Given the description of an element on the screen output the (x, y) to click on. 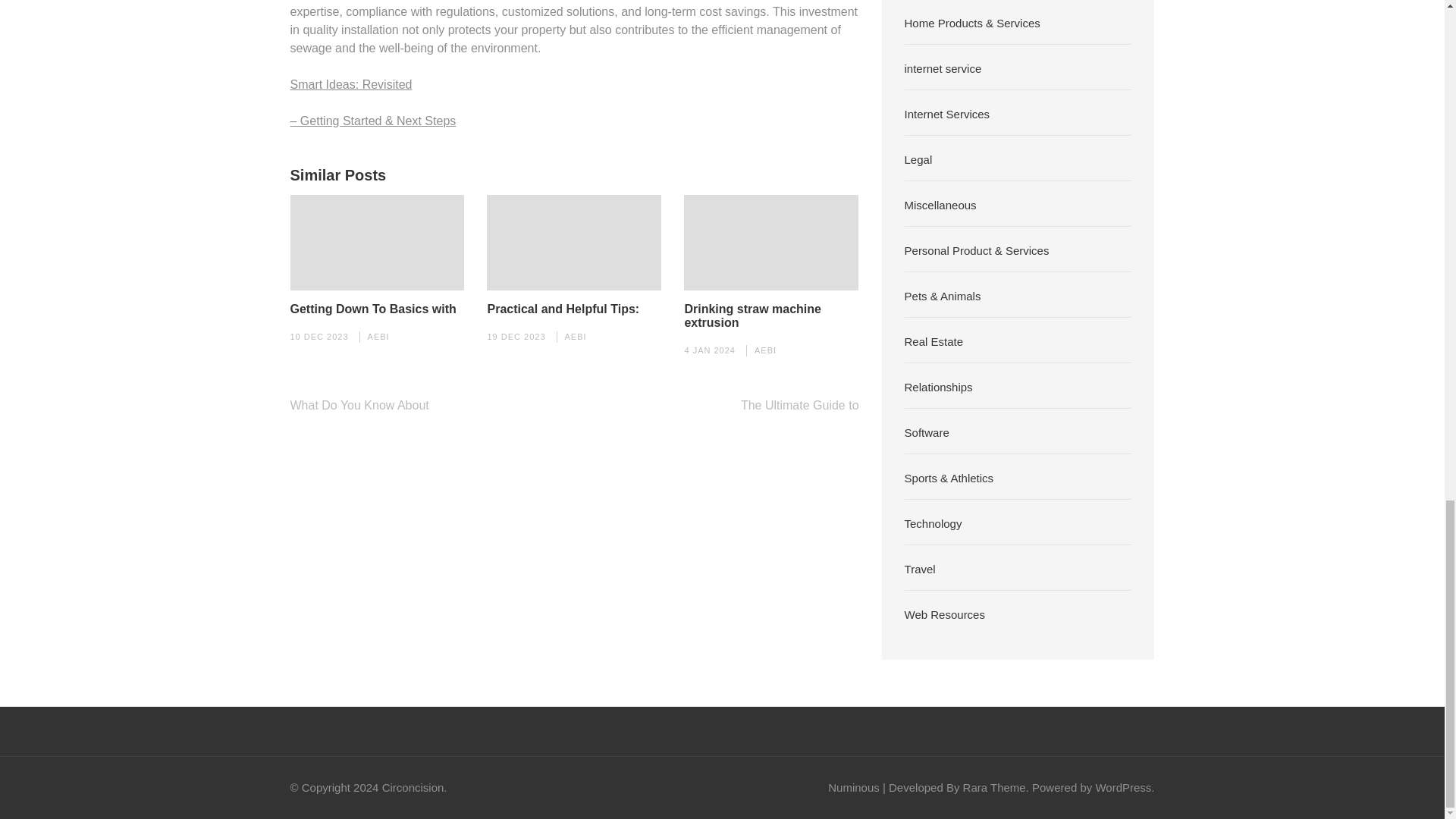
Smart Ideas: Revisited (350, 83)
AEBI (765, 349)
10 DEC 2023 (318, 336)
The Ultimate Guide to (800, 404)
Practical and Helpful Tips: (562, 309)
AEBI (575, 336)
4 JAN 2024 (709, 349)
Drinking straw machine extrusion (771, 316)
Getting Down To Basics with (372, 309)
What Do You Know About (358, 404)
